Given the description of an element on the screen output the (x, y) to click on. 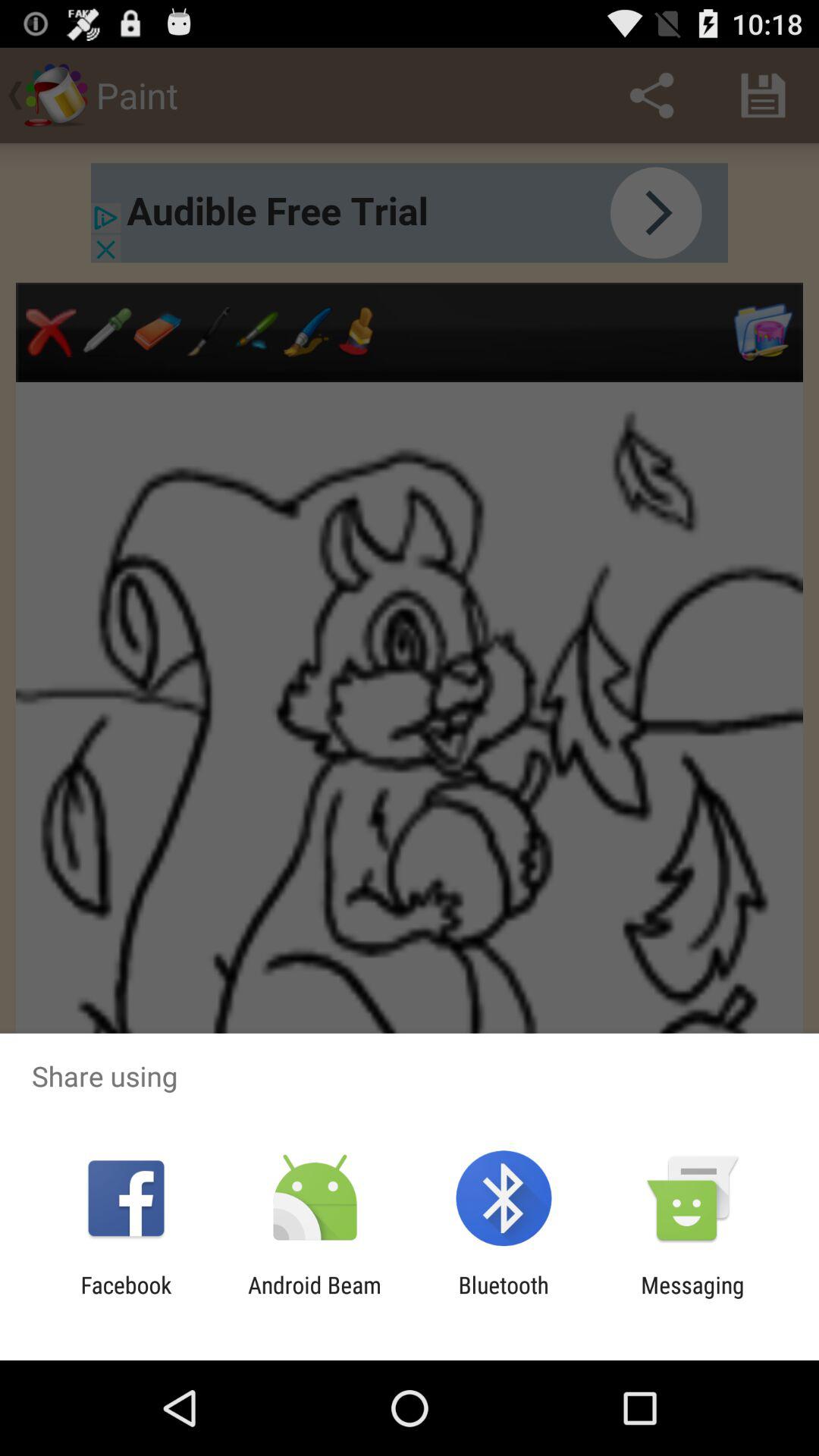
select the item to the left of the messaging icon (503, 1298)
